Given the description of an element on the screen output the (x, y) to click on. 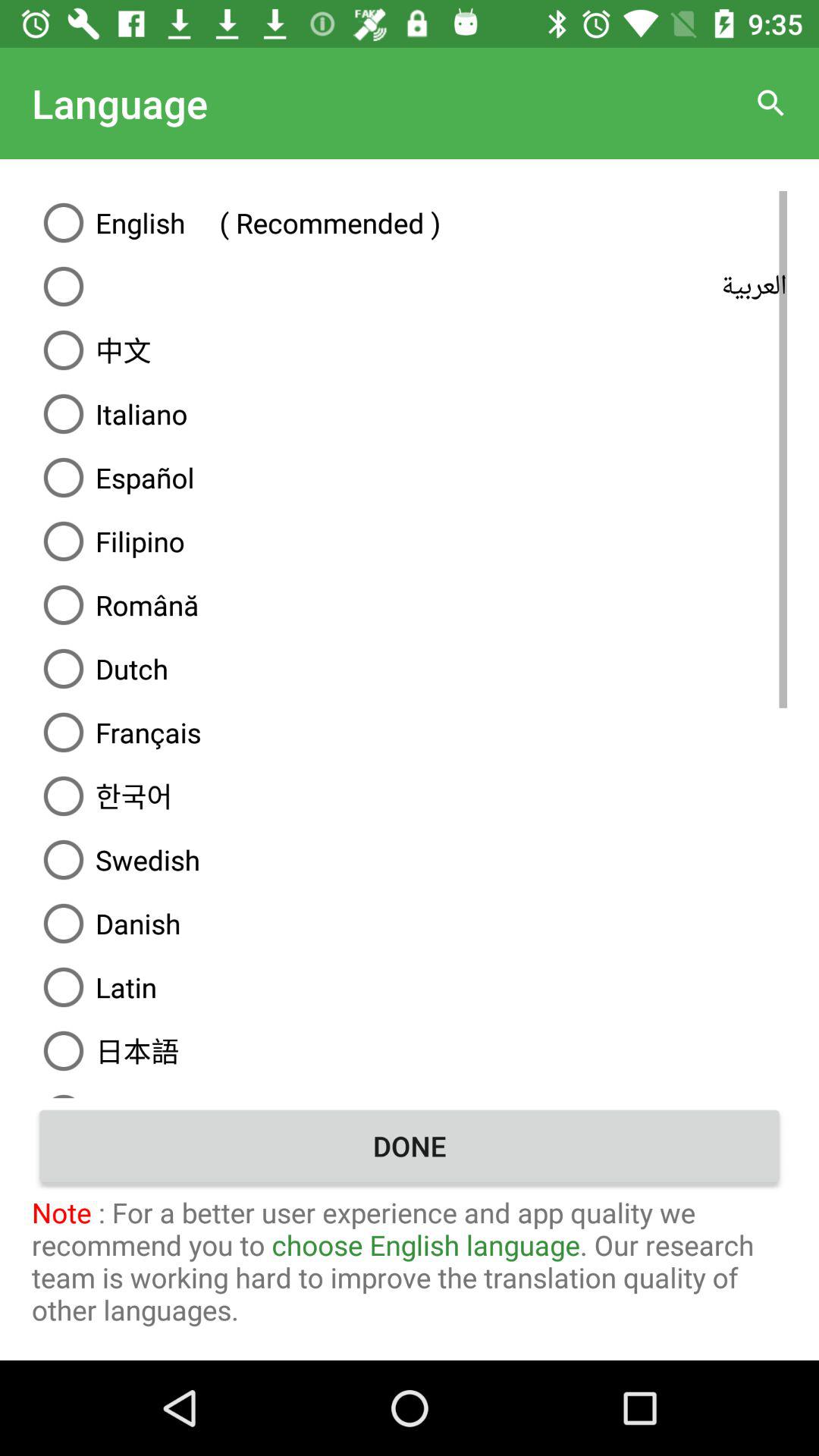
scroll to the italiano icon (409, 413)
